Given the description of an element on the screen output the (x, y) to click on. 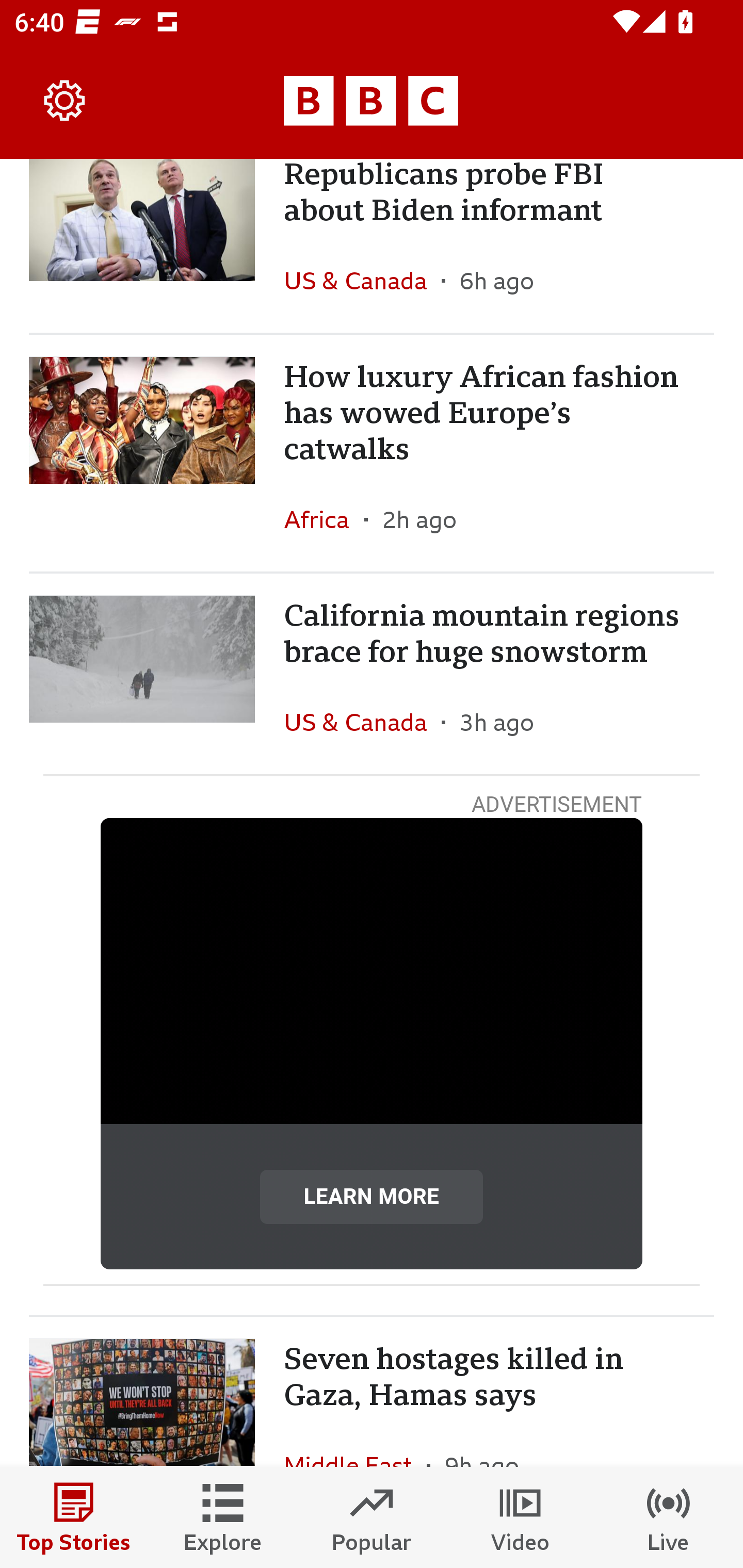
Settings (64, 100)
US & Canada In the section US & Canada (362, 280)
Africa In the section Africa (323, 518)
US & Canada In the section US & Canada (362, 721)
Video Player   LEARN MORE (371, 1044)
LEARN MORE (371, 1196)
Explore (222, 1517)
Popular (371, 1517)
Video (519, 1517)
Live (668, 1517)
